Given the description of an element on the screen output the (x, y) to click on. 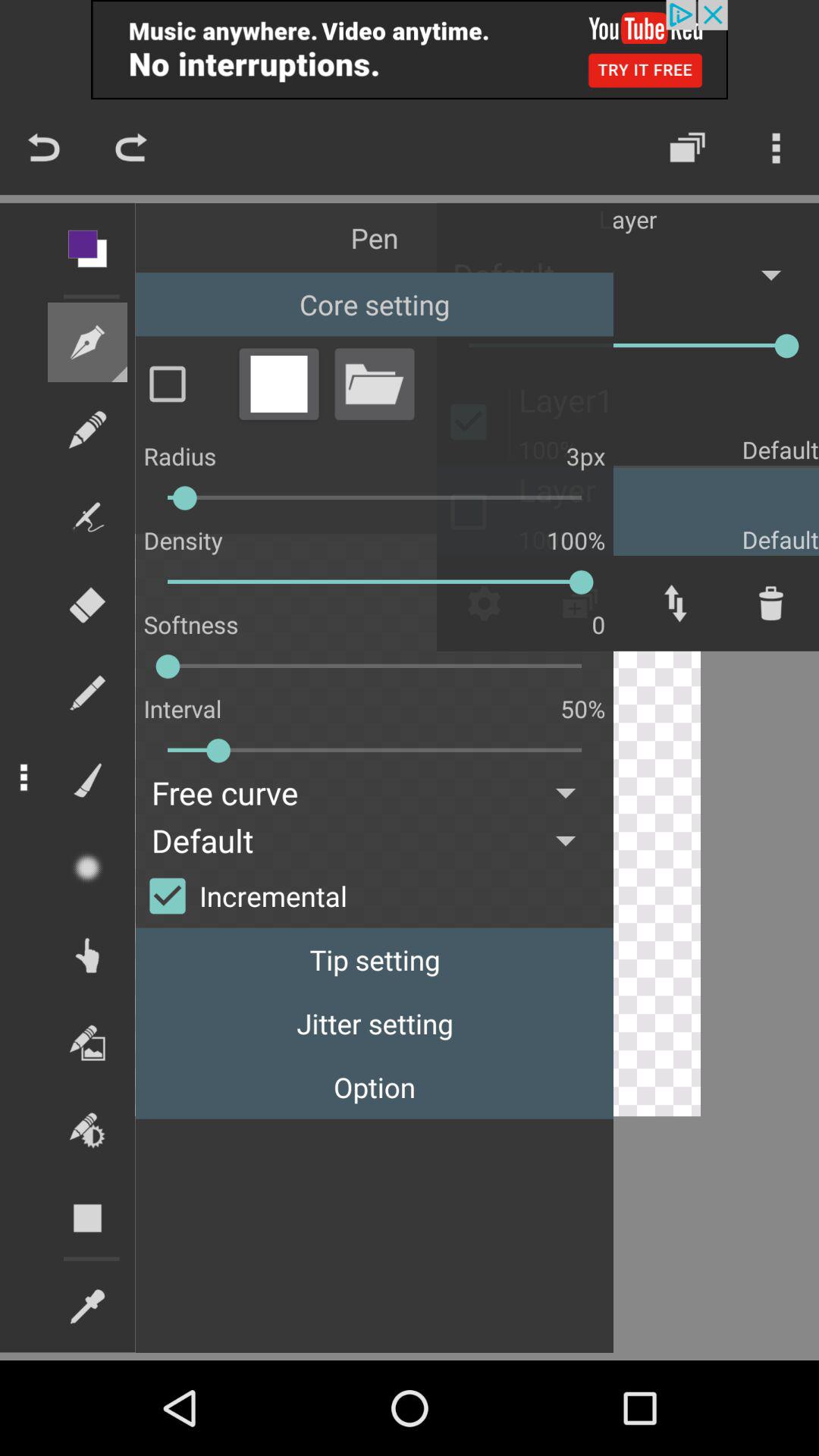
mark (182, 383)
